Given the description of an element on the screen output the (x, y) to click on. 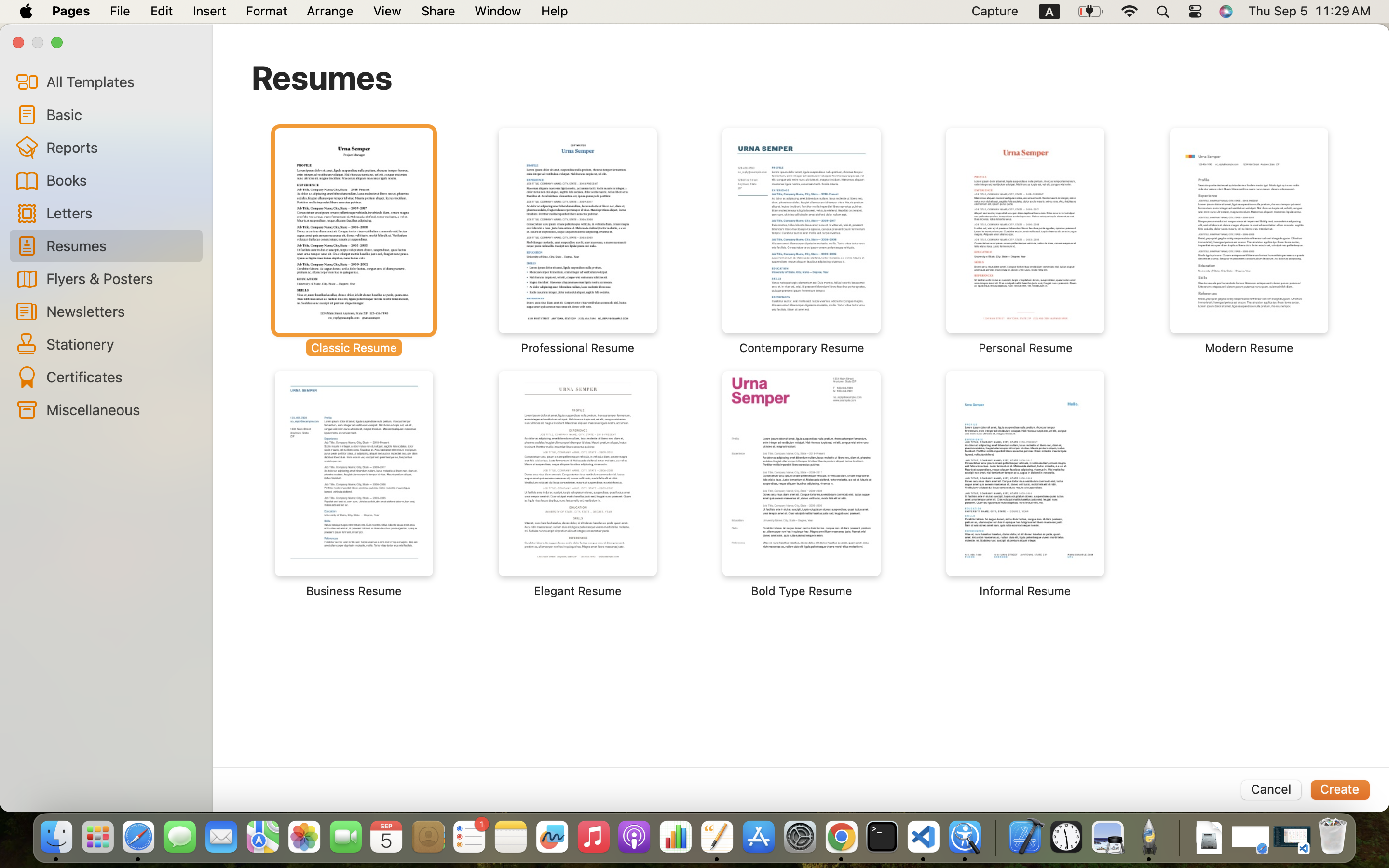
‎⁨Modern Resume⁩ Element type: AXButton (1249, 241)
Flyers & Posters Element type: AXStaticText (120, 278)
‎⁨Business Resume⁩ Element type: AXButton (353, 484)
‎⁨Classic Resume⁩ Element type: AXButton (353, 241)
‎⁨Contemporary Resume⁩ Element type: AXButton (801, 241)
